Given the description of an element on the screen output the (x, y) to click on. 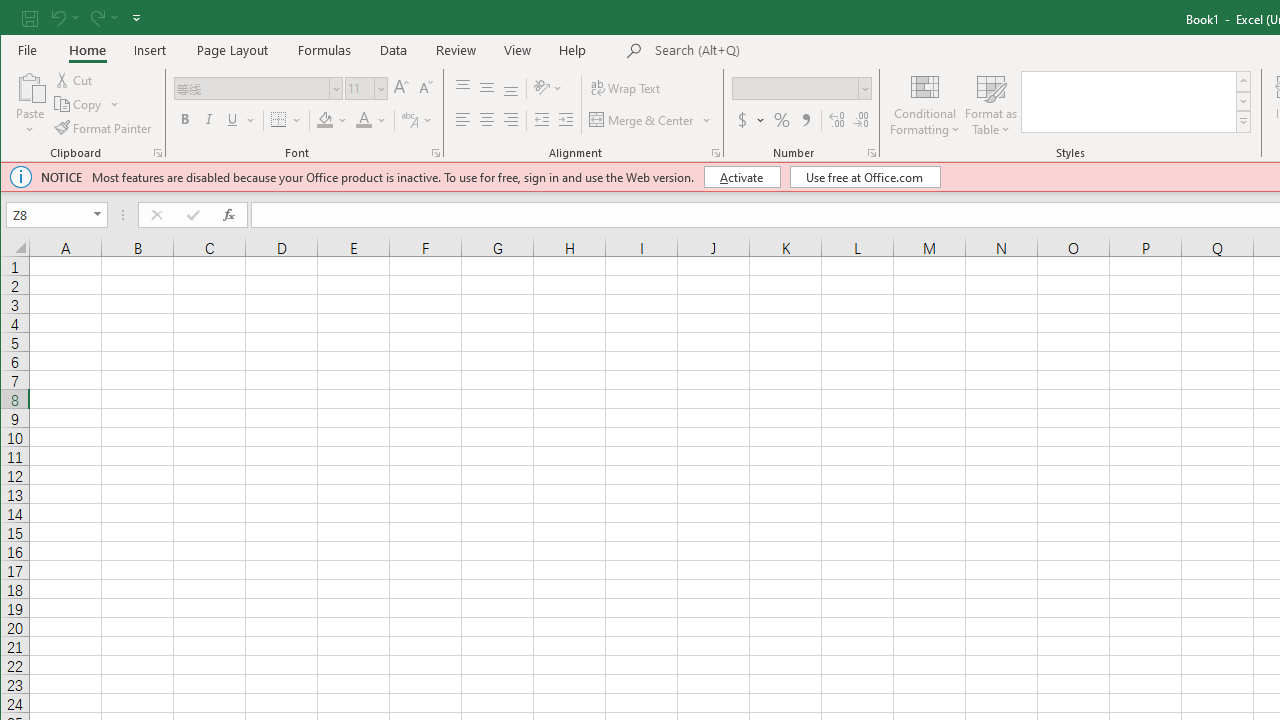
Copy (79, 103)
Font Color (364, 119)
Orientation (549, 88)
Decrease Font Size (424, 88)
Underline (239, 119)
Activate (742, 176)
Middle Align (486, 88)
